Given the description of an element on the screen output the (x, y) to click on. 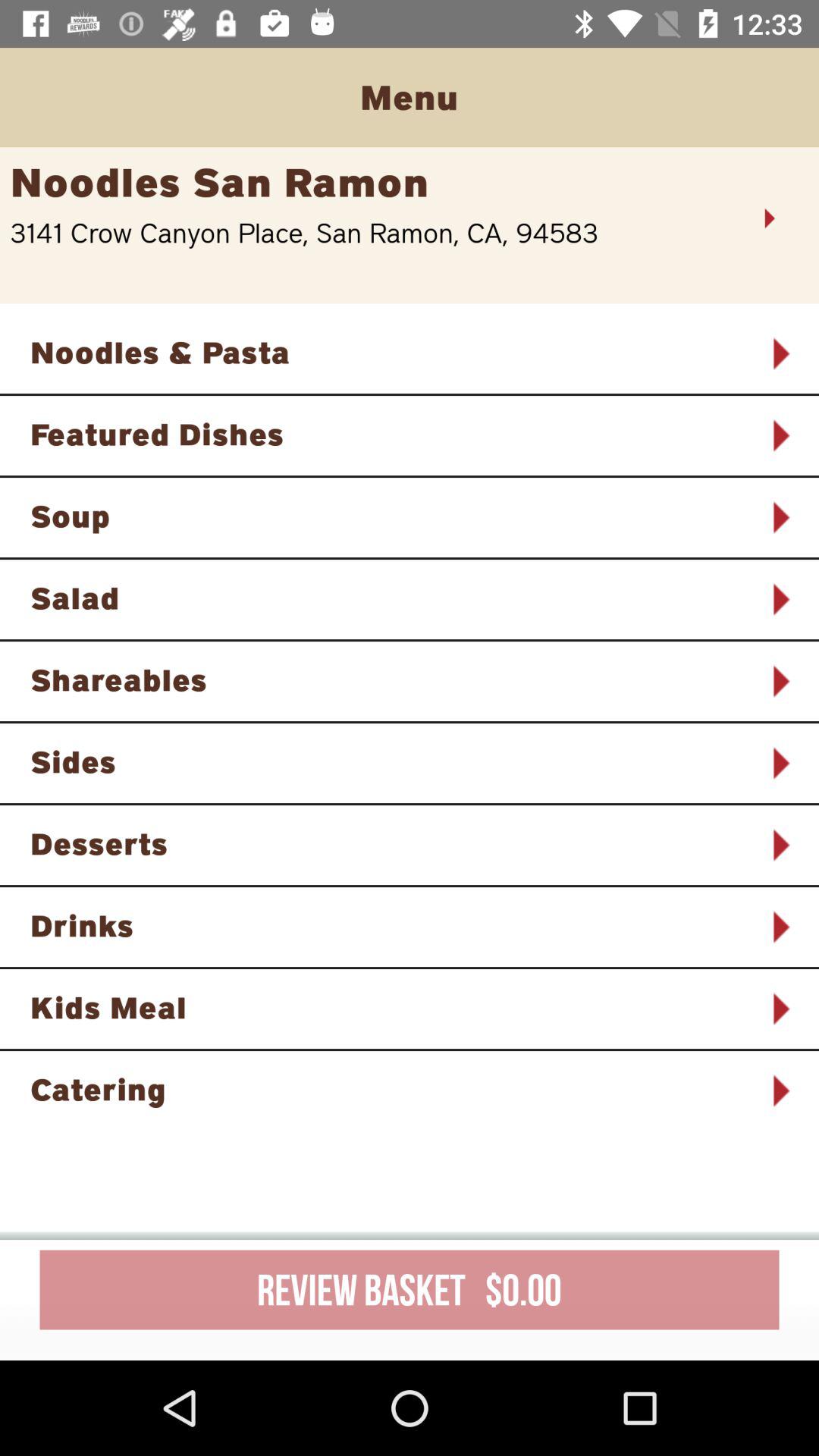
press the icon above soup  item (390, 433)
